Given the description of an element on the screen output the (x, y) to click on. 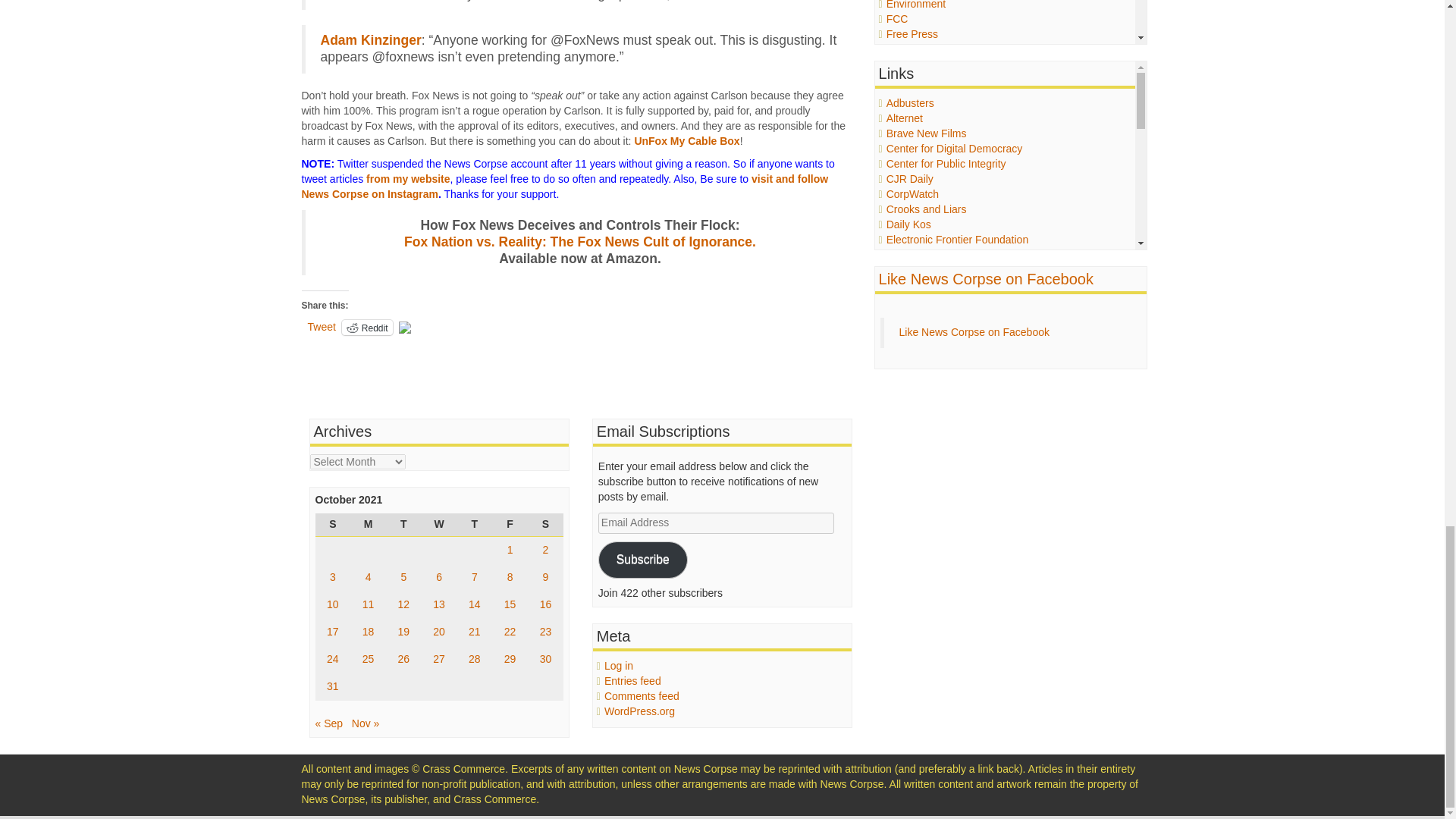
Friday (509, 524)
Adam Kinzinger (370, 39)
Thursday (474, 524)
Click to share on Reddit (367, 327)
Fox Nation vs. Reality: The Fox News Cult of Ignorance. (579, 241)
Wednesday (439, 524)
from my website (407, 178)
UnFox My Cable Box (686, 141)
Monday (367, 524)
Tuesday (403, 524)
Sunday (332, 524)
visit and follow News Corpse on Instagram (564, 185)
